Given the description of an element on the screen output the (x, y) to click on. 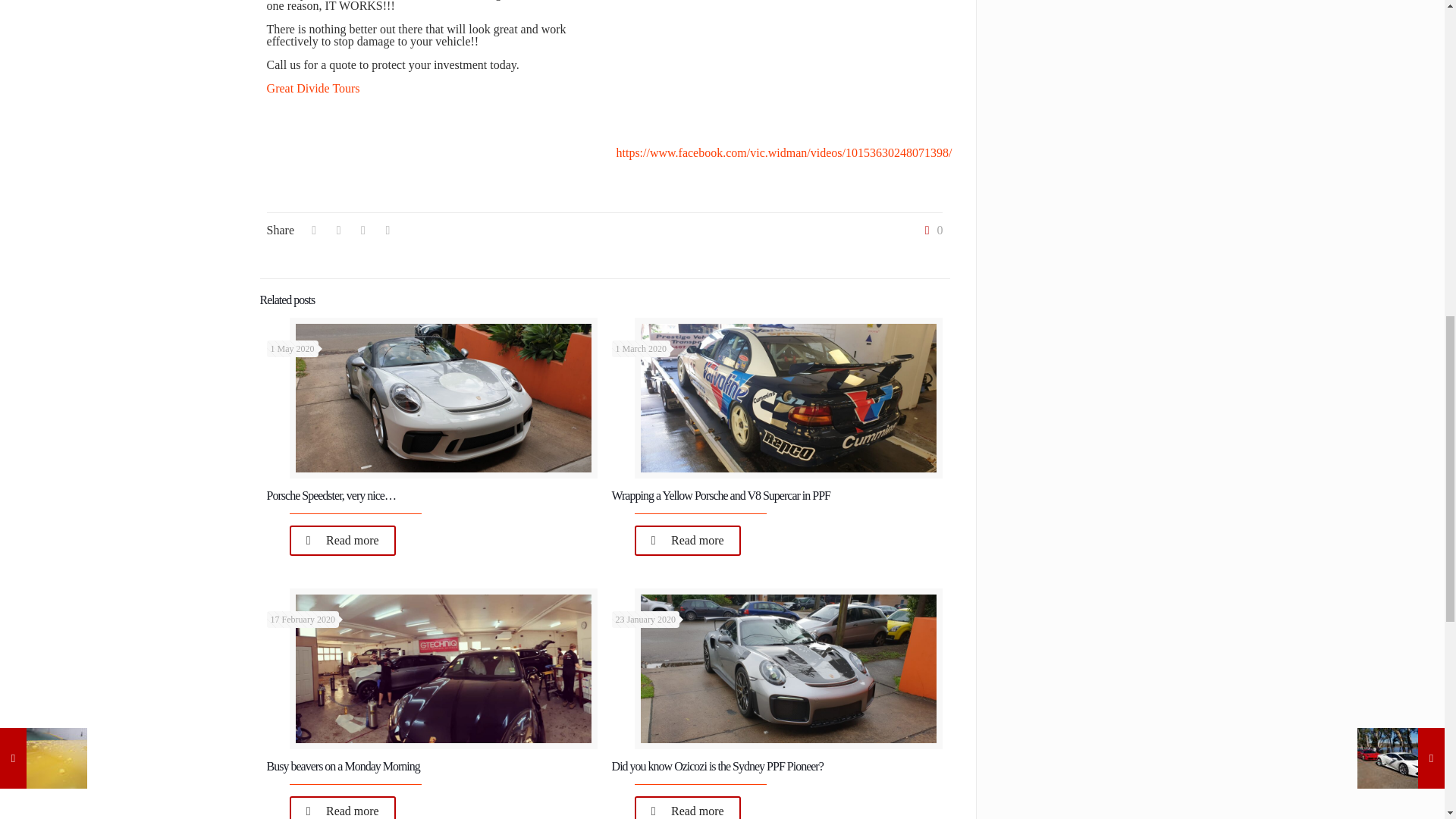
Great Divide Tours (312, 88)
